Given the description of an element on the screen output the (x, y) to click on. 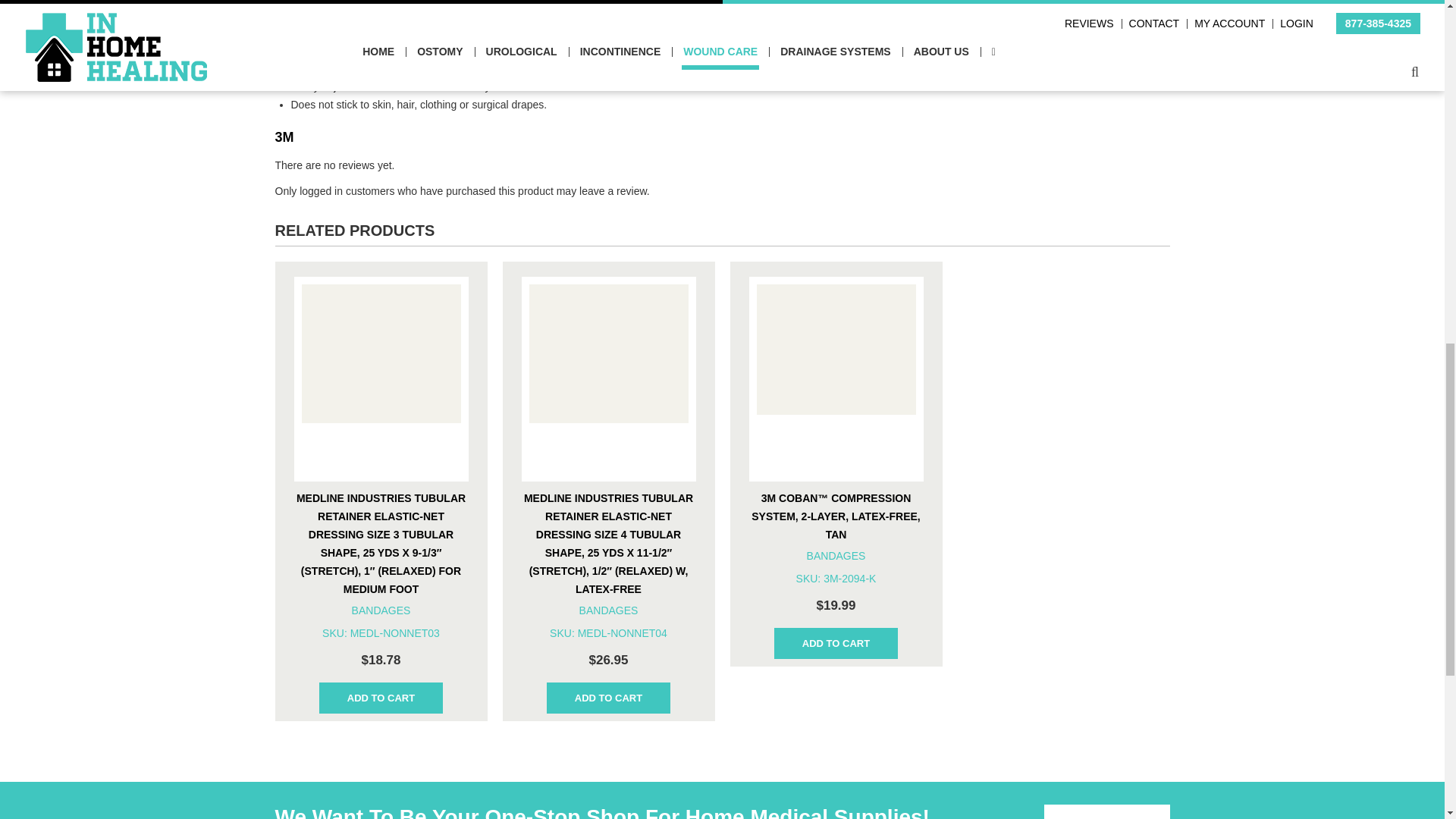
BANDAGES (381, 610)
BANDAGES (609, 610)
ADD TO CART (608, 698)
ADD TO CART (380, 698)
